Given the description of an element on the screen output the (x, y) to click on. 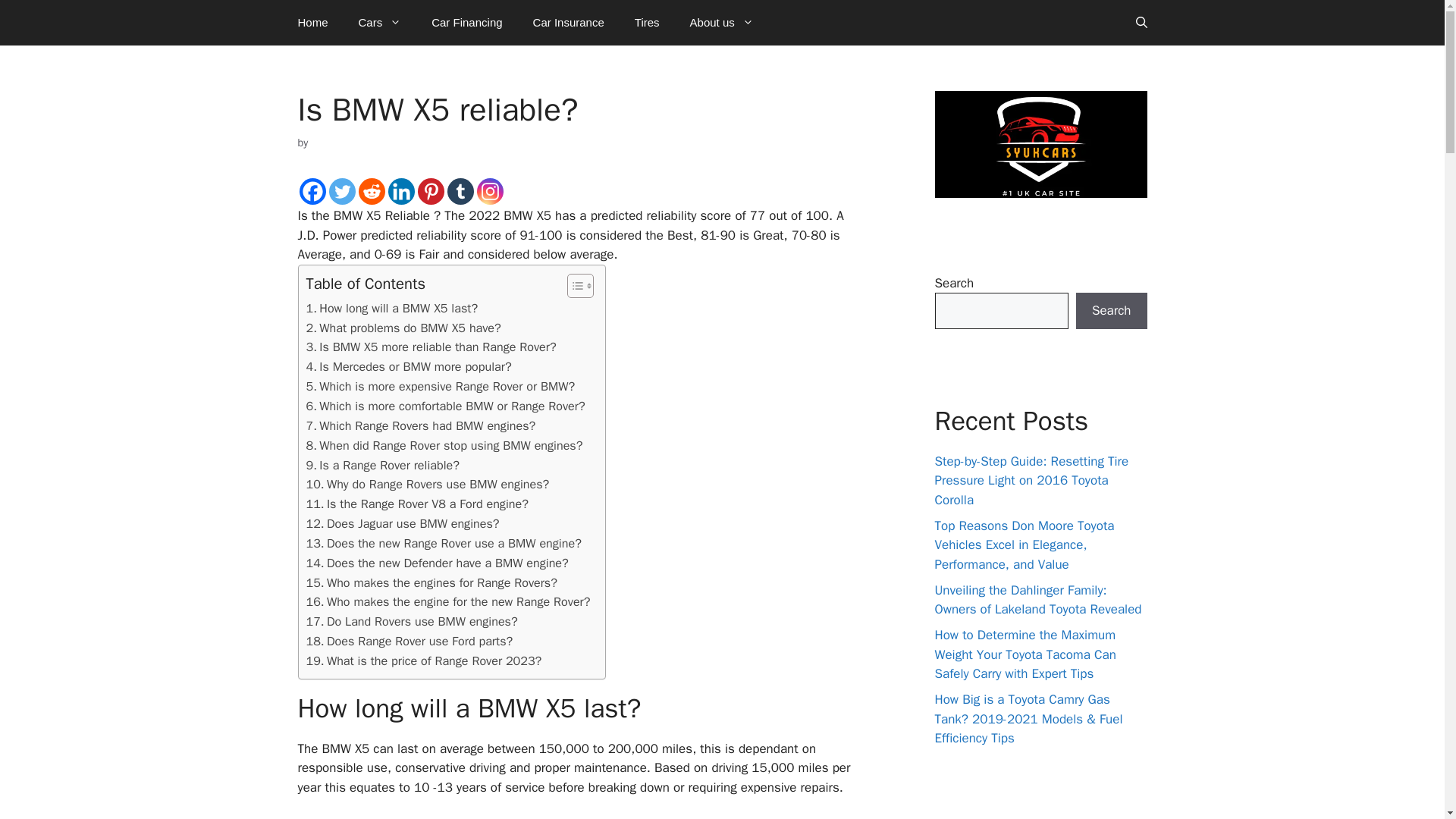
Facebook (311, 191)
Which Range Rovers had BMW engines? (420, 425)
When did Range Rover stop using BMW engines? (444, 445)
Which is more expensive Range Rover or BMW? (440, 386)
Tumblr (460, 191)
Instagram (489, 191)
What problems do BMW X5 have? (402, 328)
Car Insurance (569, 22)
Is a Range Rover reliable? (382, 465)
Which is more expensive Range Rover or BMW? (440, 386)
